Given the description of an element on the screen output the (x, y) to click on. 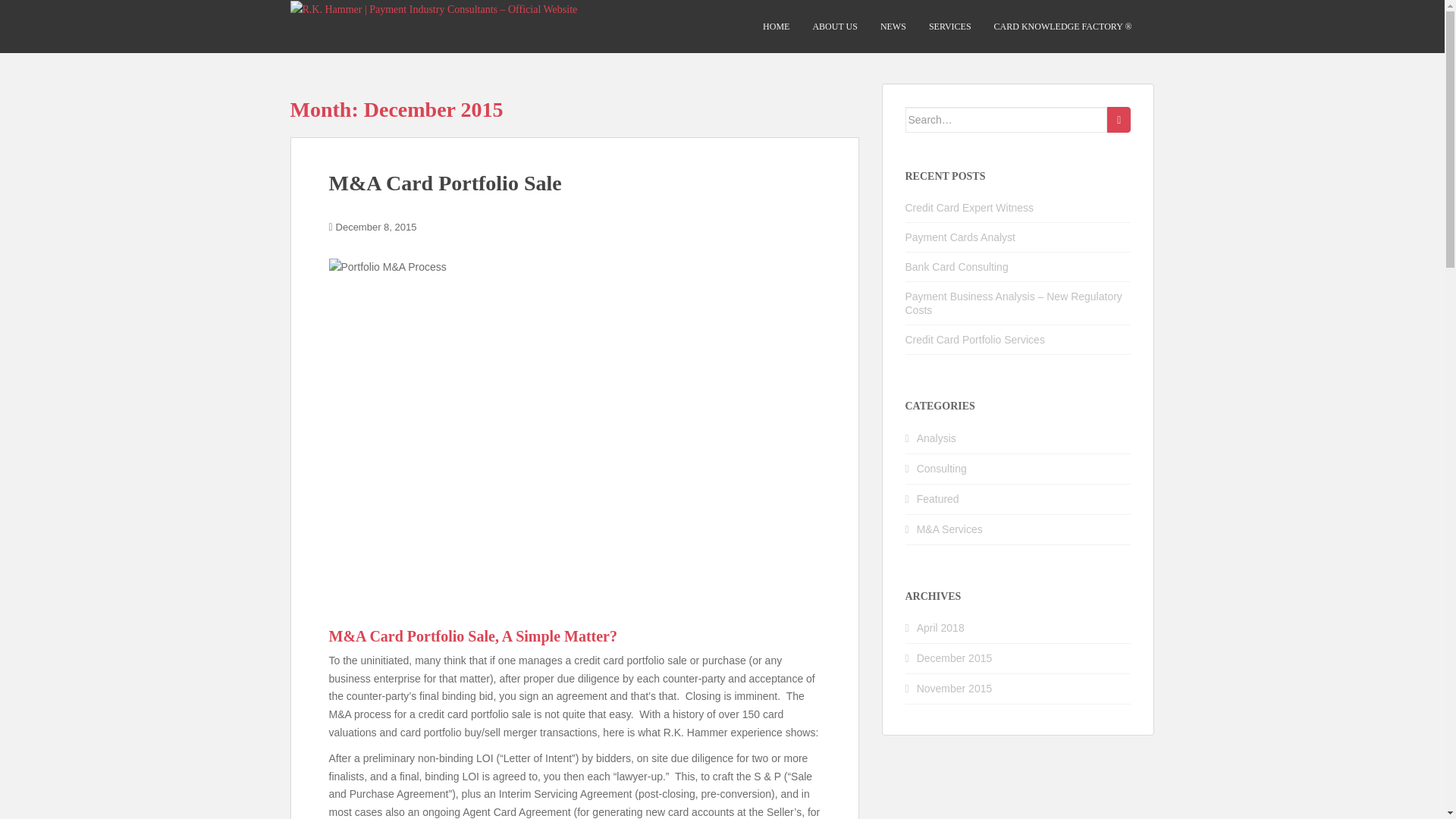
Analysis (936, 438)
December 2015 (954, 657)
Credit Card Portfolio Services (975, 339)
Featured (938, 499)
SERVICES (949, 26)
NEWS (892, 26)
Credit Card Expert Witness (969, 207)
ABOUT US (834, 26)
Search for: (1006, 119)
Search (1118, 119)
November 2015 (954, 688)
December 8, 2015 (376, 226)
Payment Cards Analyst (960, 236)
April 2018 (940, 627)
Bank Card Consulting (957, 266)
